Given the description of an element on the screen output the (x, y) to click on. 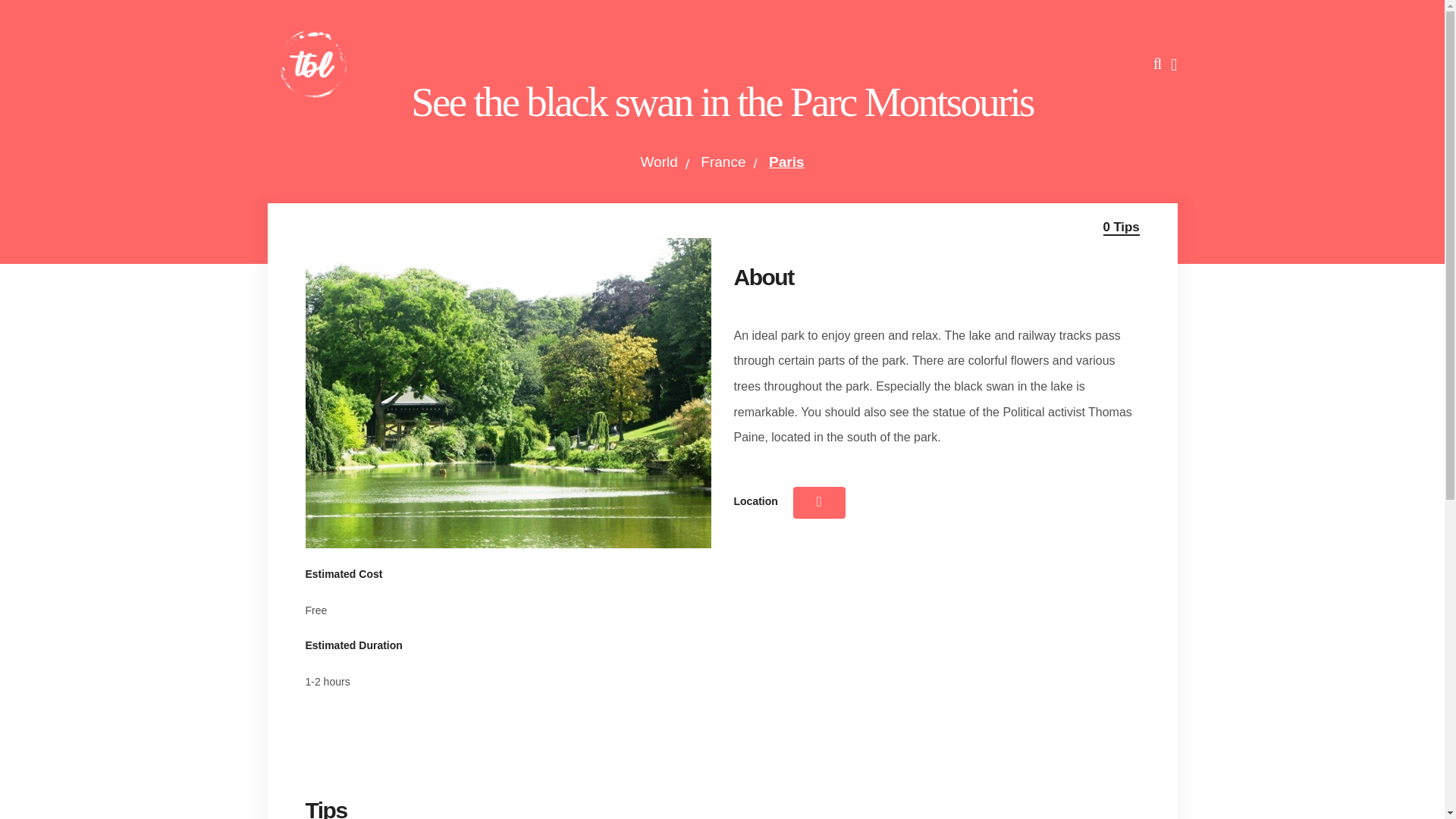
Paris (785, 161)
World (658, 161)
France (722, 161)
0 Tips (1121, 228)
